Given the description of an element on the screen output the (x, y) to click on. 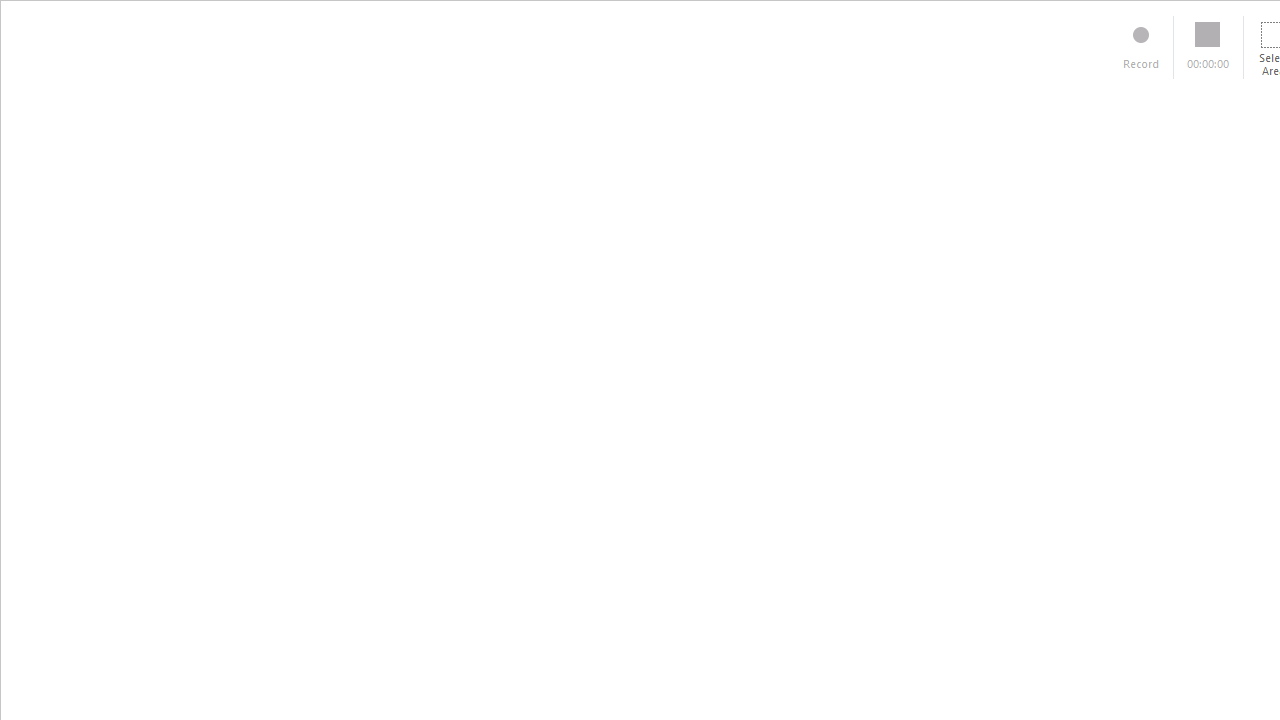
00:00:00 (1207, 47)
